Given the description of an element on the screen output the (x, y) to click on. 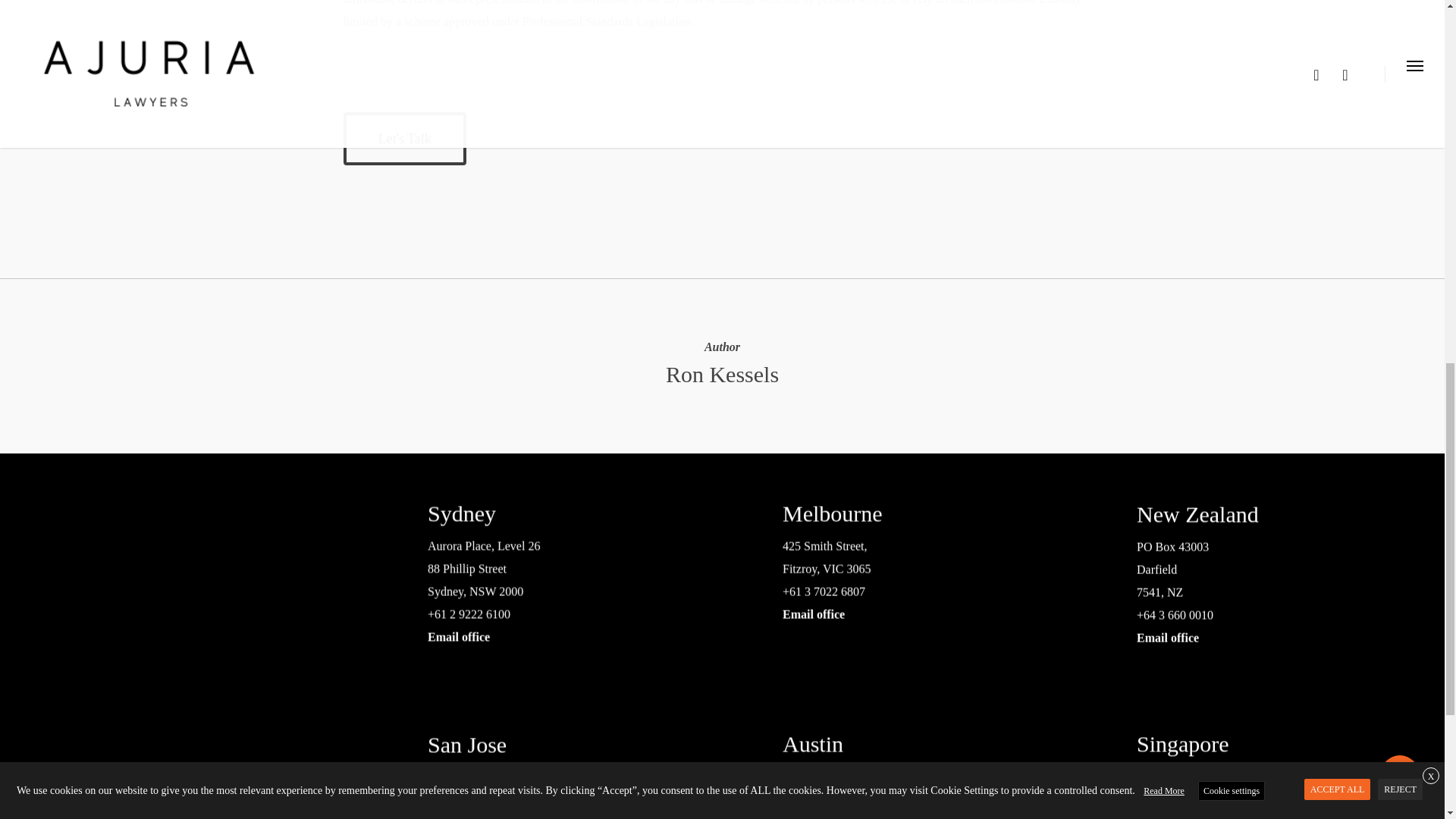
Let'S Talk (404, 138)
Email office (1360, 630)
Email office (651, 632)
Email office (1006, 609)
